Given the description of an element on the screen output the (x, y) to click on. 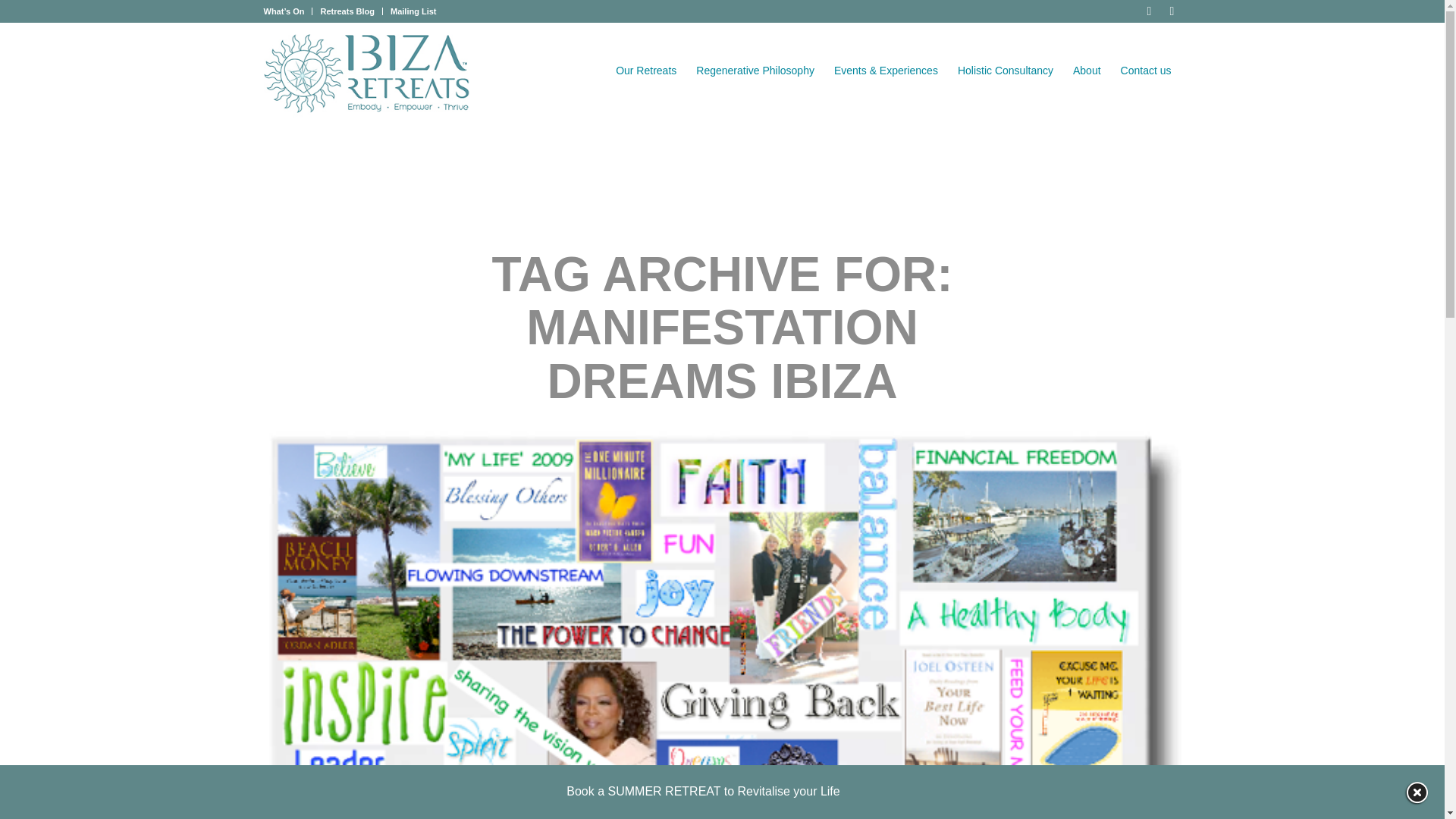
Instagram (1171, 11)
Ibiza Retreats With Slogan 2 (366, 73)
Mailing List (413, 11)
Facebook (1148, 11)
Retreats Blog (347, 11)
Regenerative Philosophy (754, 70)
Holistic Consultancy (1004, 70)
